Given the description of an element on the screen output the (x, y) to click on. 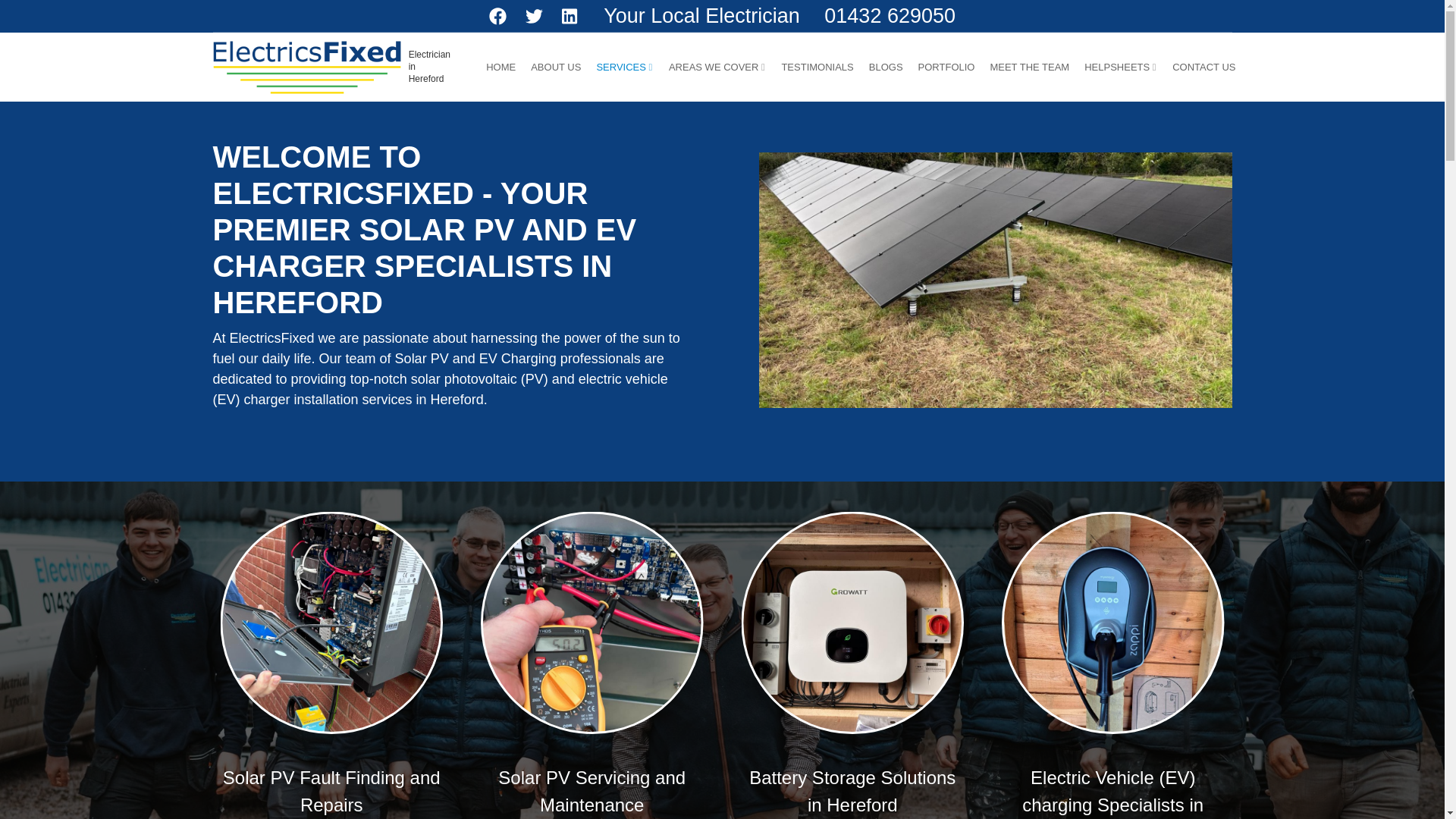
01432 629050 (889, 15)
Home (306, 65)
TESTIMONIALS (816, 66)
Solar PV Servicing and Maintenance (592, 622)
PORTFOLIO (946, 66)
Battery Storage Solutions in Hereford (851, 622)
BLOGS (886, 66)
ABOUT US (555, 66)
CONTACT US (1203, 66)
